Given the description of an element on the screen output the (x, y) to click on. 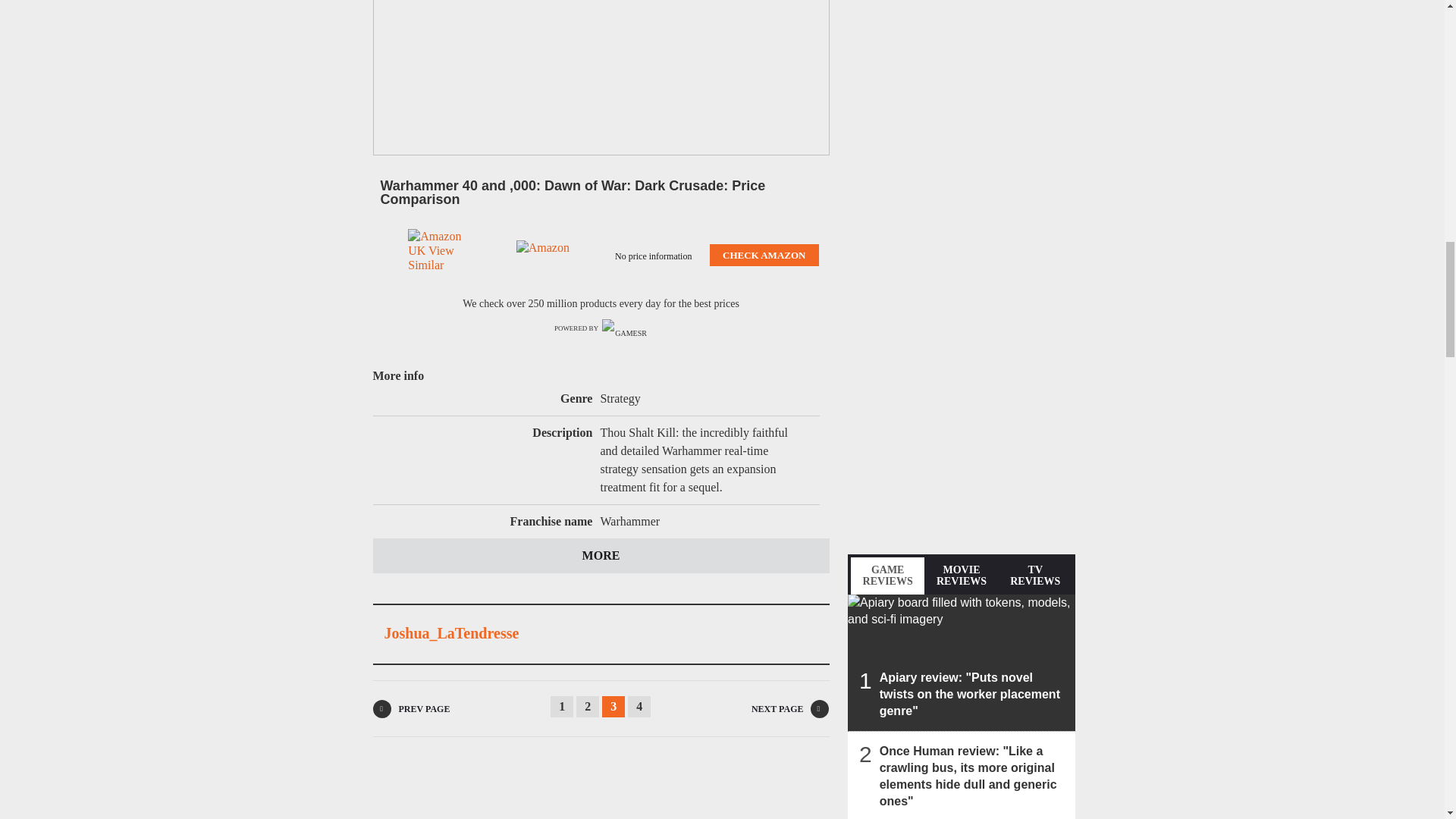
Amazon (546, 255)
Gamesradar (624, 328)
Amazon UK View Similar (437, 255)
